Given the description of an element on the screen output the (x, y) to click on. 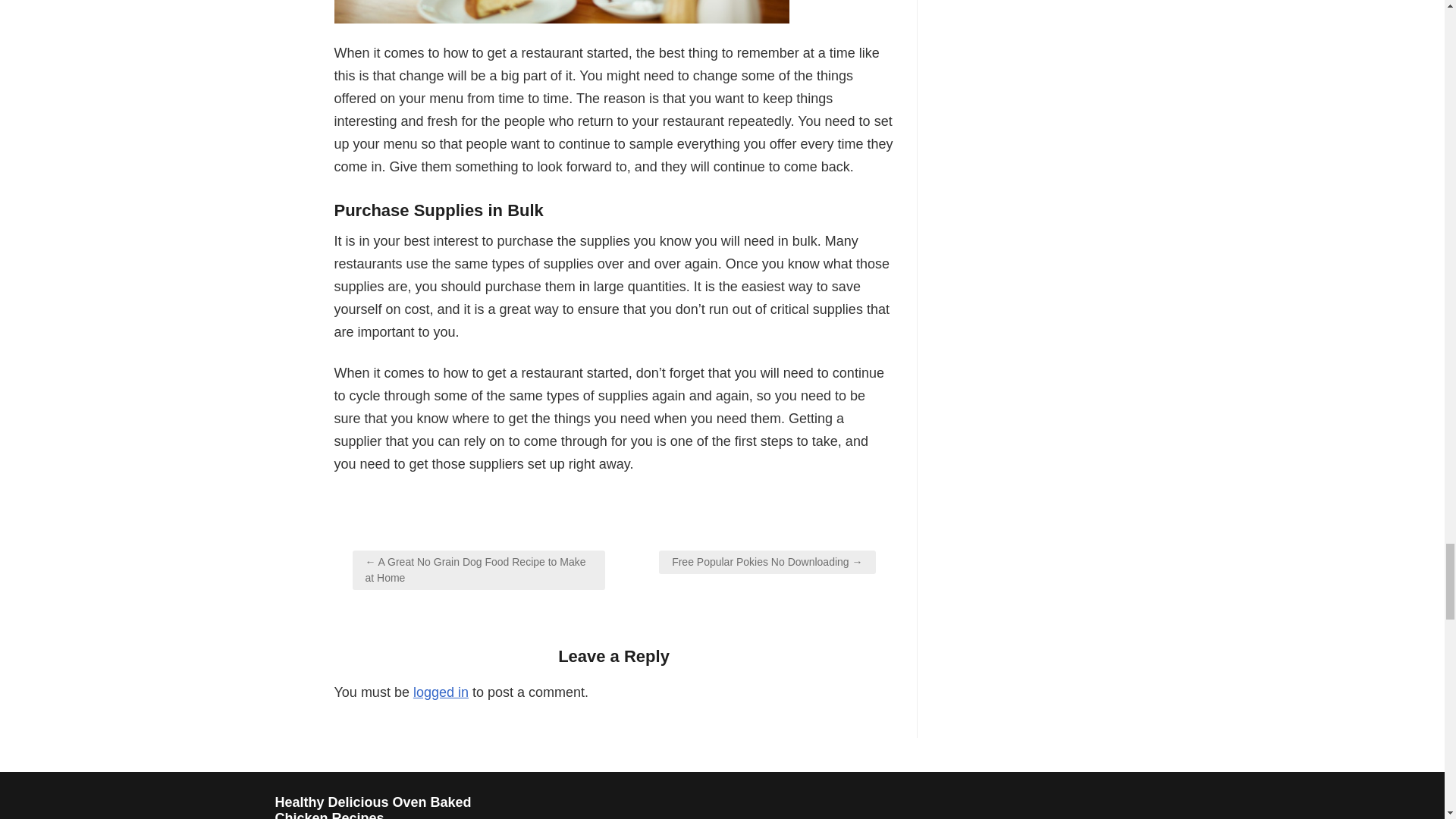
logged in (440, 692)
